Given the description of an element on the screen output the (x, y) to click on. 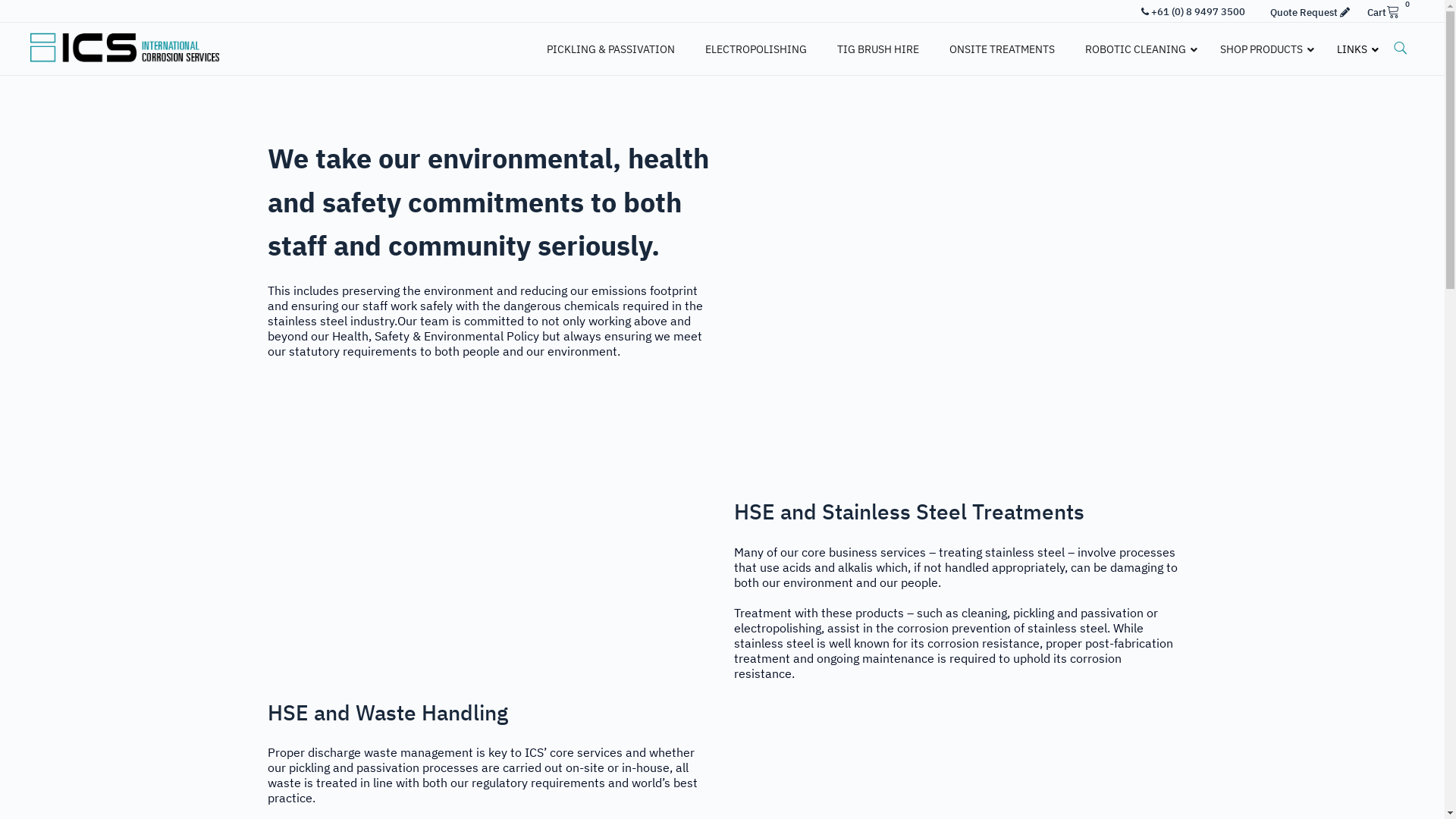
ONSITE TREATMENTS Element type: text (1002, 48)
SHOP PRODUCTS Element type: text (1262, 48)
ELECTROPOLISHING Element type: text (756, 48)
TIG BRUSH HIRE Element type: text (878, 48)
ROBOTIC CLEANING Element type: text (1137, 48)
Quote Request Element type: text (1309, 12)
LINKS Element type: text (1353, 48)
Cart 0 Element type: text (1386, 12)
+61 (0) 8 9497 3500 Element type: text (1193, 11)
PICKLING & PASSIVATION Element type: text (610, 48)
